Given the description of an element on the screen output the (x, y) to click on. 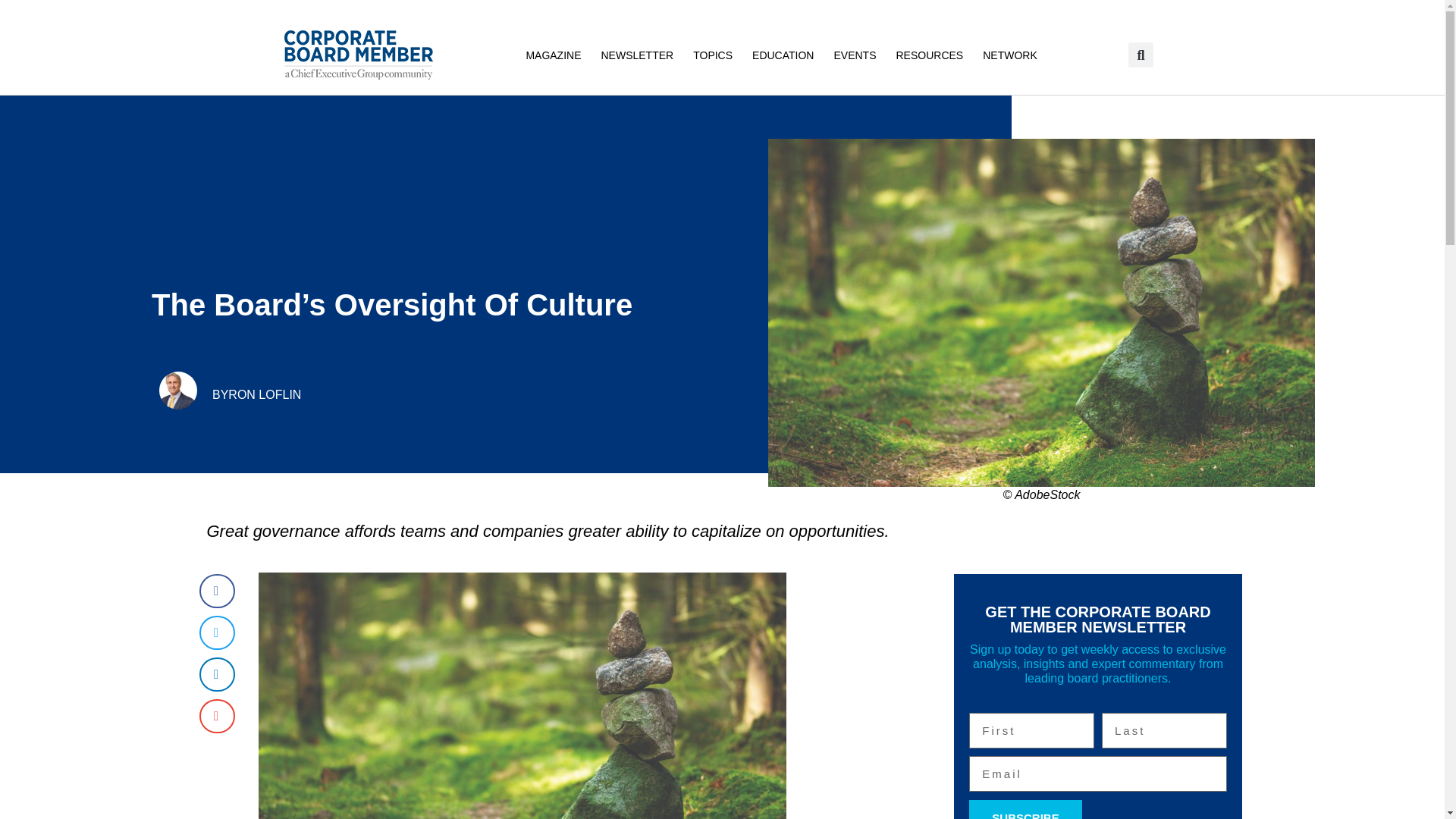
EDUCATION (783, 54)
NEWSLETTER (637, 54)
NETWORK (1009, 54)
EVENTS (854, 54)
MAGAZINE (553, 54)
TOPICS (712, 54)
RESOURCES (928, 54)
